Given the description of an element on the screen output the (x, y) to click on. 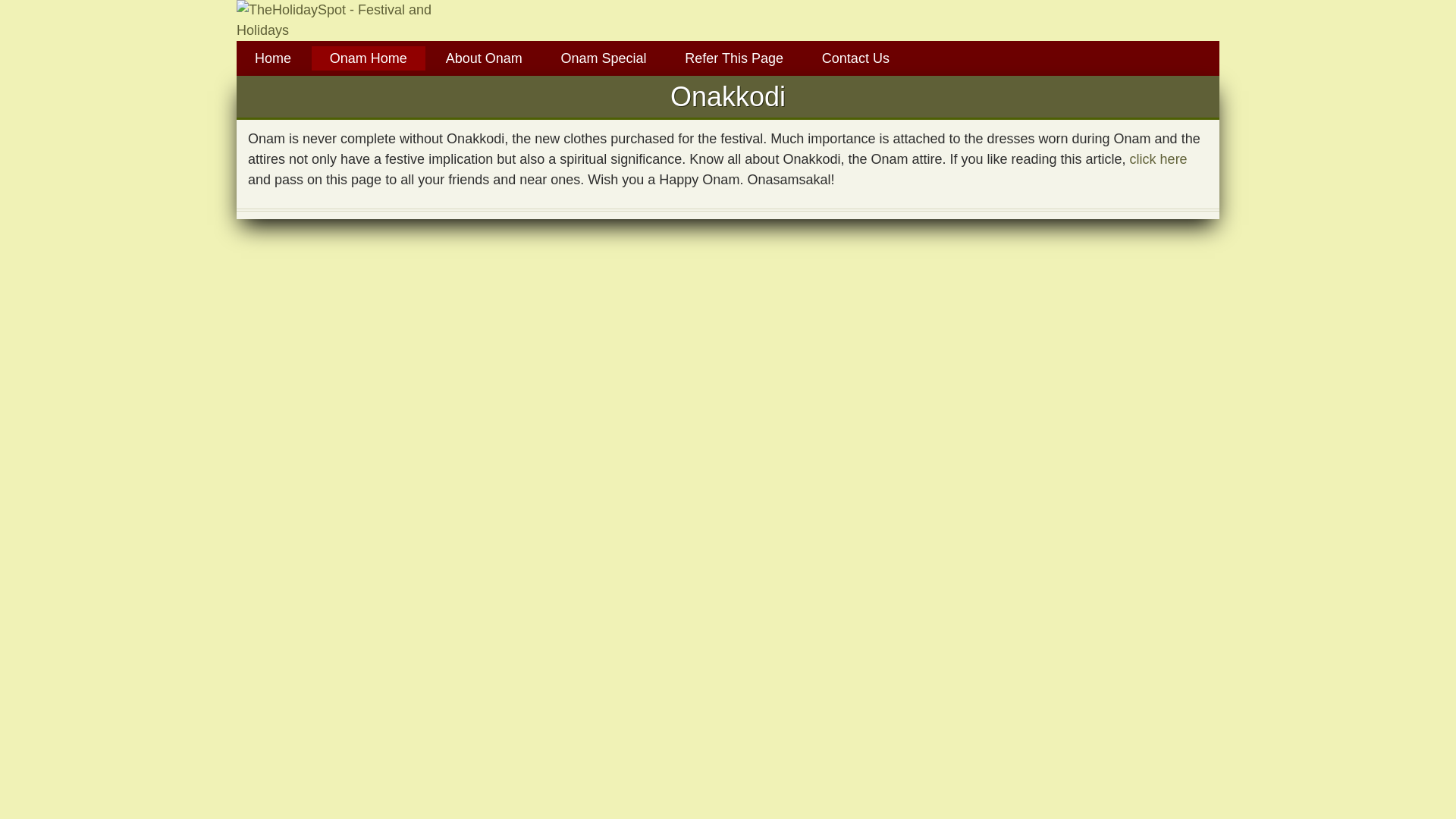
Refer This Page (733, 57)
TheHolidaySpot (351, 20)
Home (272, 57)
Contact Us (855, 57)
Onam Home (368, 57)
Onam Special (602, 57)
click here (1158, 159)
About Onam (483, 57)
